Given the description of an element on the screen output the (x, y) to click on. 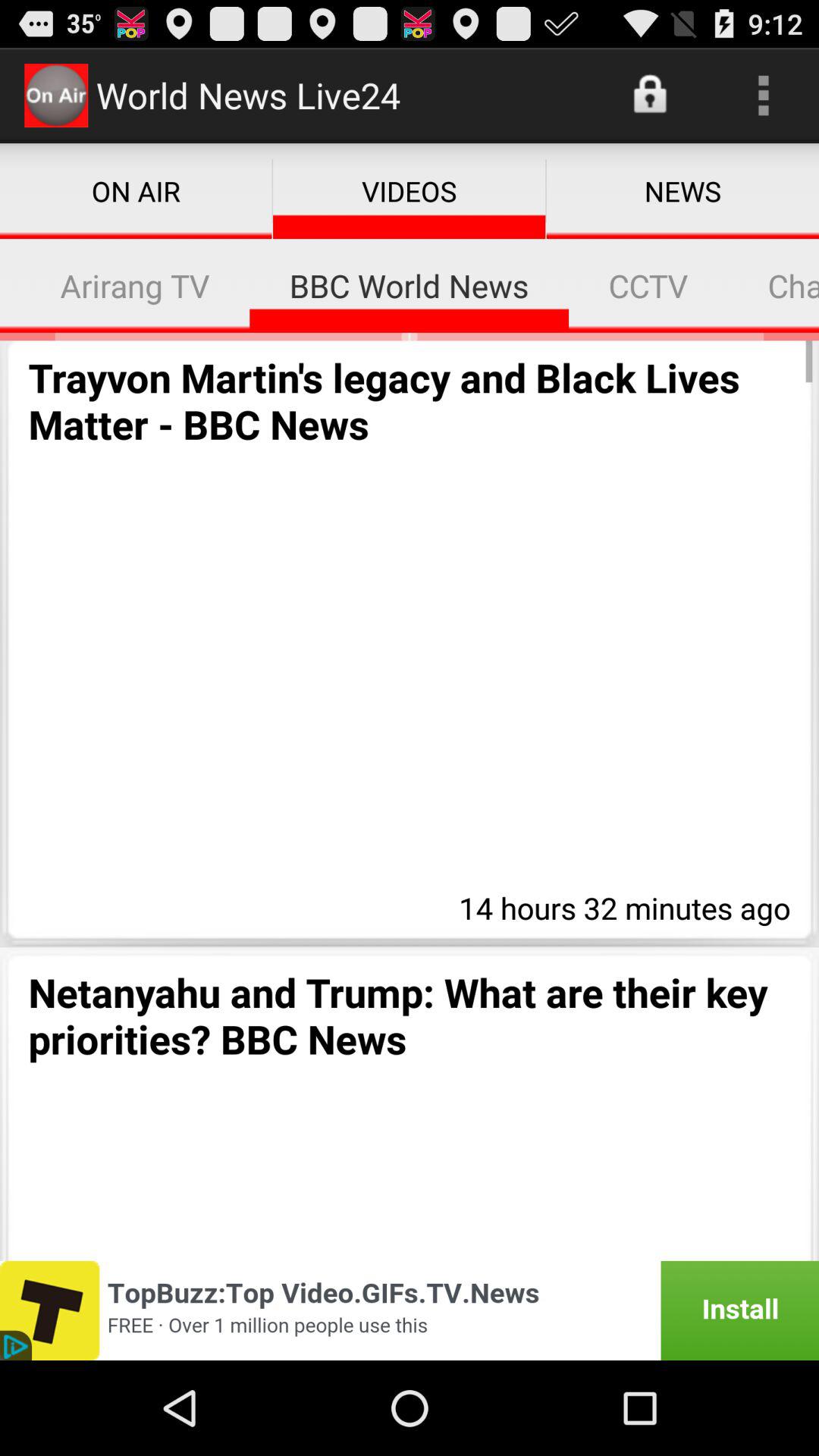
turn on the item to the right of world news live24 (651, 95)
